Given the description of an element on the screen output the (x, y) to click on. 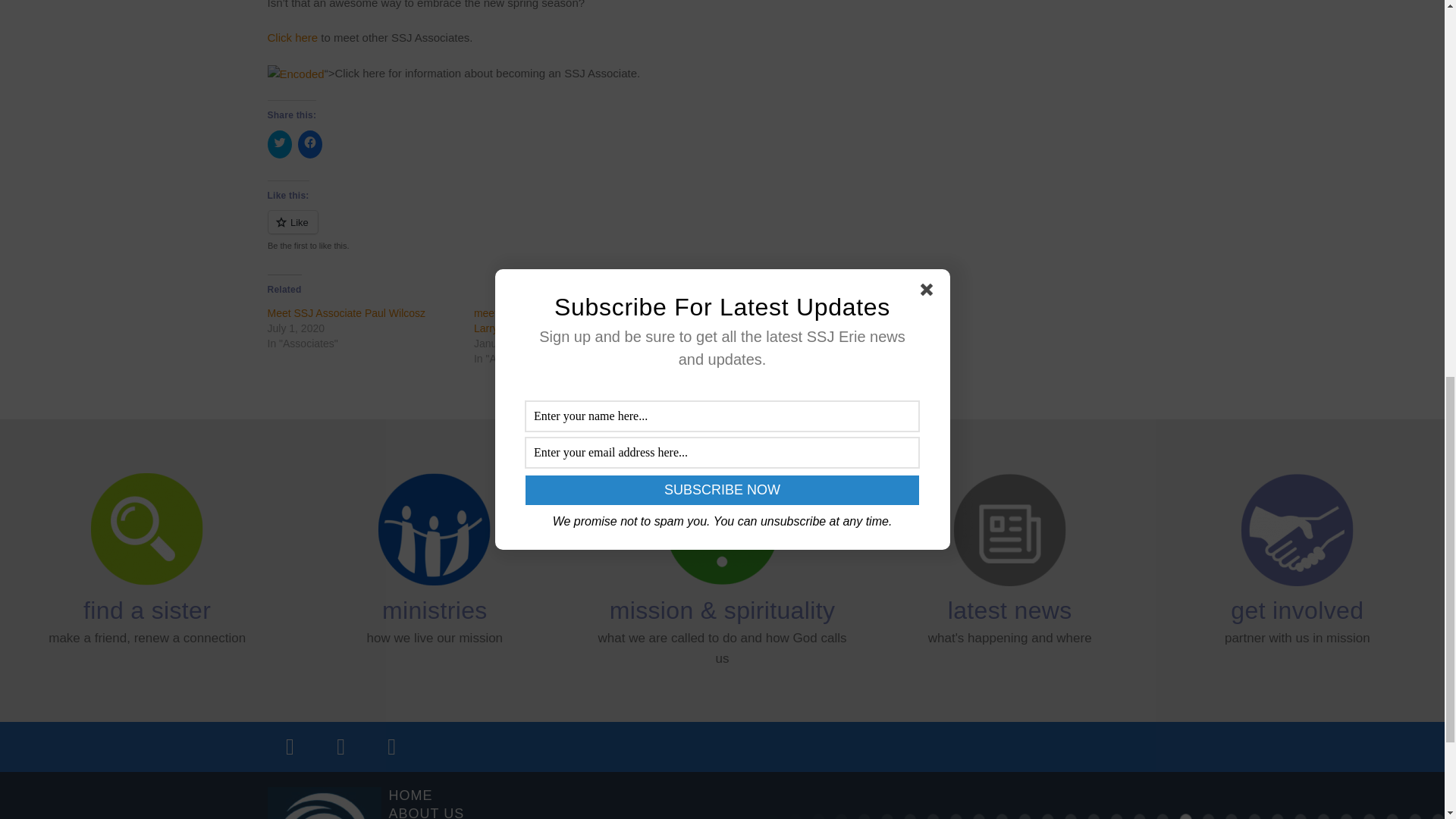
meet SSJ Associates Mary Grace and Larry Lewis (563, 320)
Like or Reblog (579, 230)
Meet SSJ Associate Paul Wilcosz (345, 313)
2016 New Associate Press Release (763, 313)
